Given the description of an element on the screen output the (x, y) to click on. 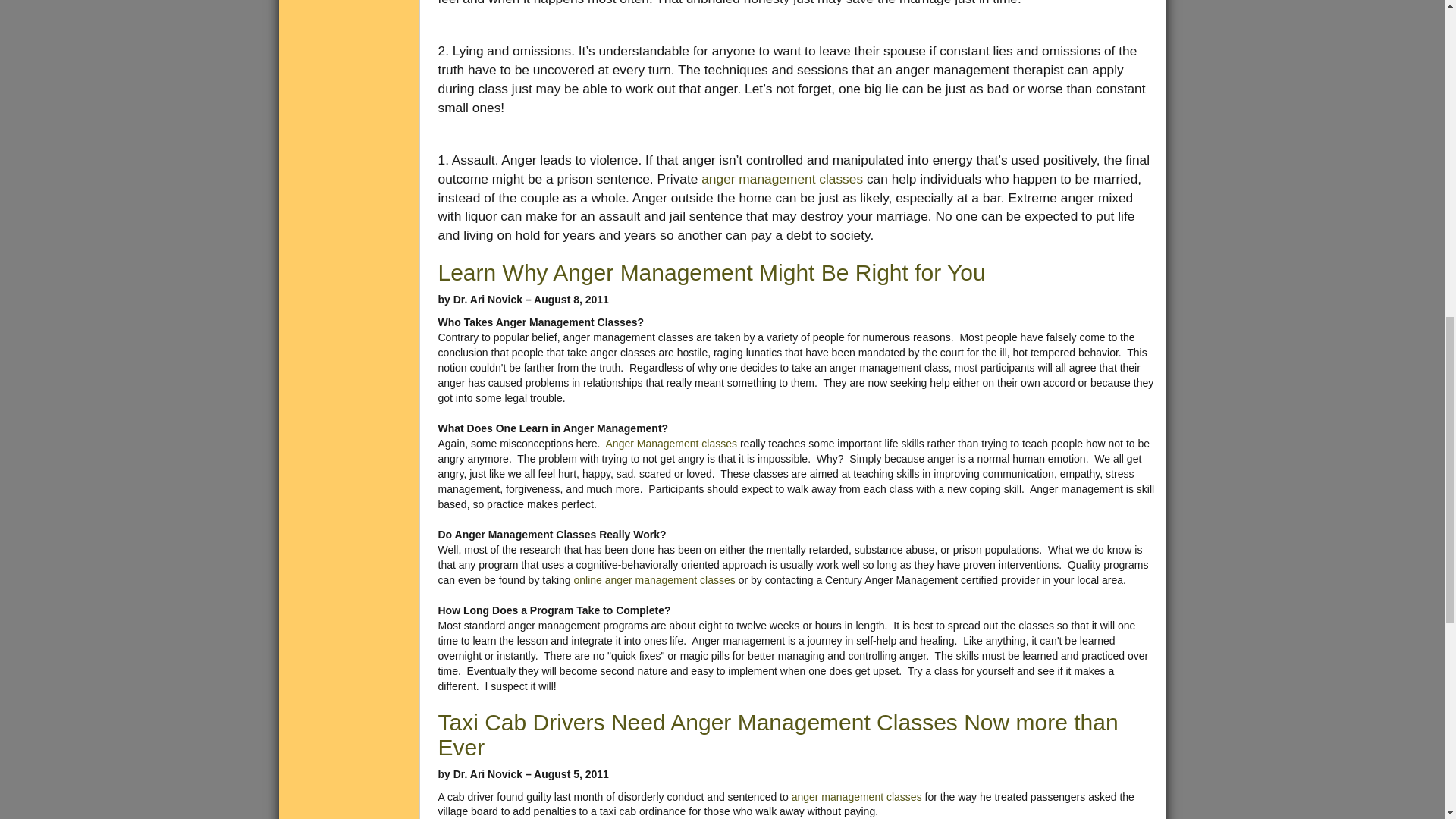
Anger Management Classes (856, 796)
8 hour anger management classes online (654, 580)
anger management classes (671, 443)
